Given the description of an element on the screen output the (x, y) to click on. 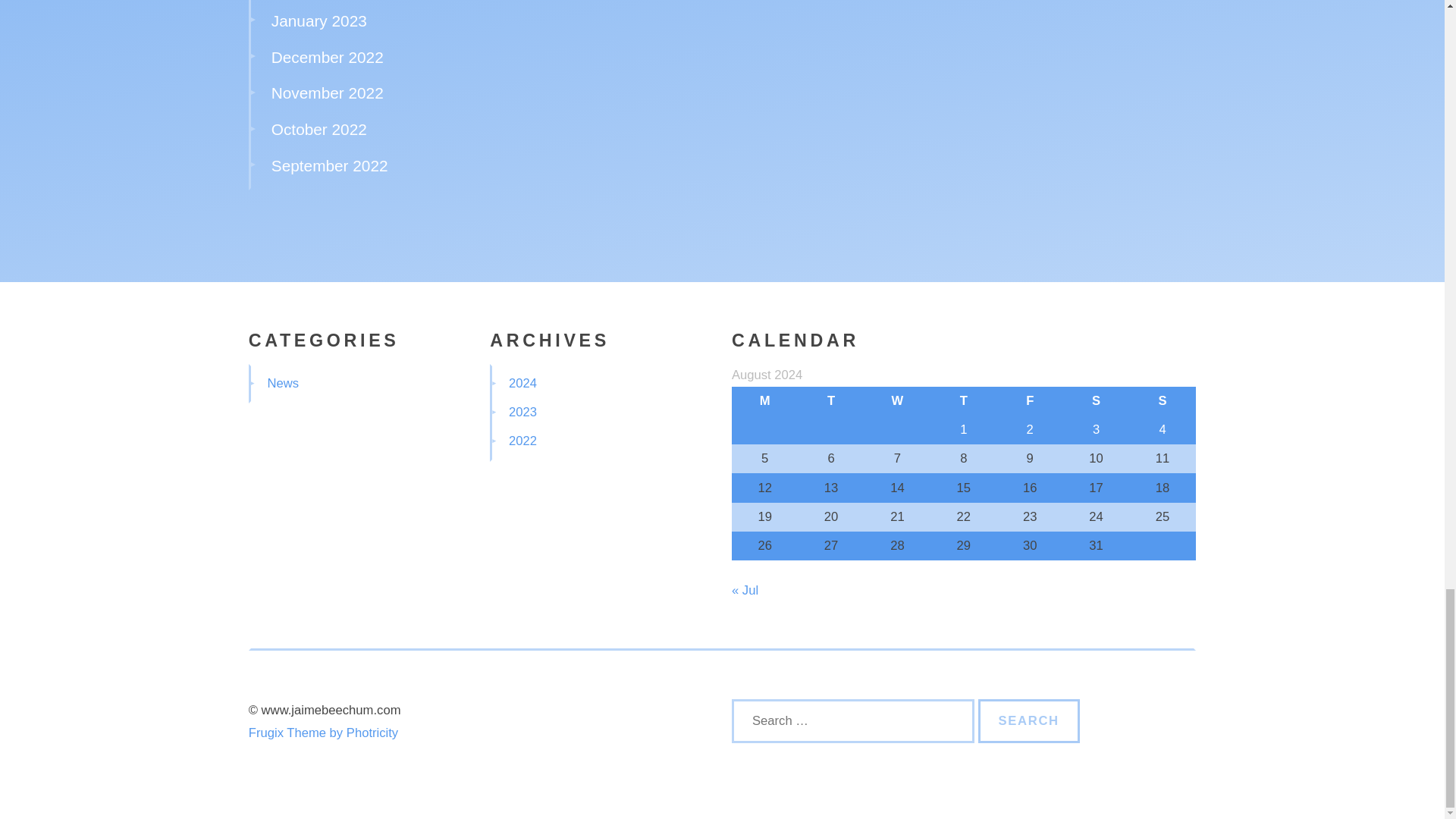
December 2022 (327, 57)
Wednesday (897, 400)
Friday (1029, 400)
Saturday (1095, 400)
Tuesday (830, 400)
November 2022 (327, 92)
September 2022 (329, 165)
2023 (522, 411)
Sunday (1162, 400)
October 2022 (318, 129)
